Given the description of an element on the screen output the (x, y) to click on. 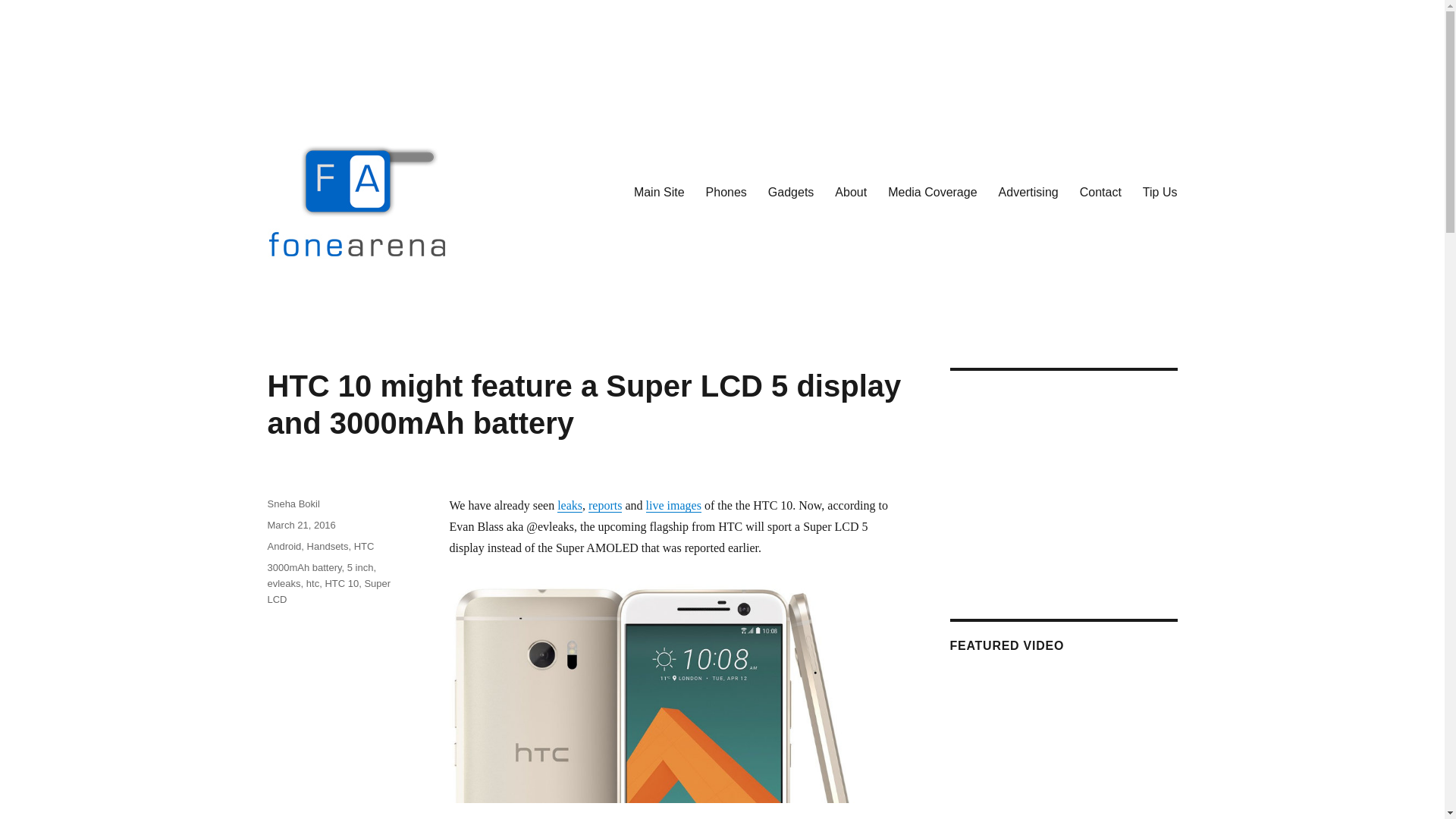
About (850, 192)
HTC (363, 546)
htc (311, 583)
Handsets (328, 546)
Gadgets (790, 192)
Main Site (659, 192)
3000mAh battery (303, 567)
reports (604, 504)
leaks (569, 504)
5 inch (360, 567)
